Given the description of an element on the screen output the (x, y) to click on. 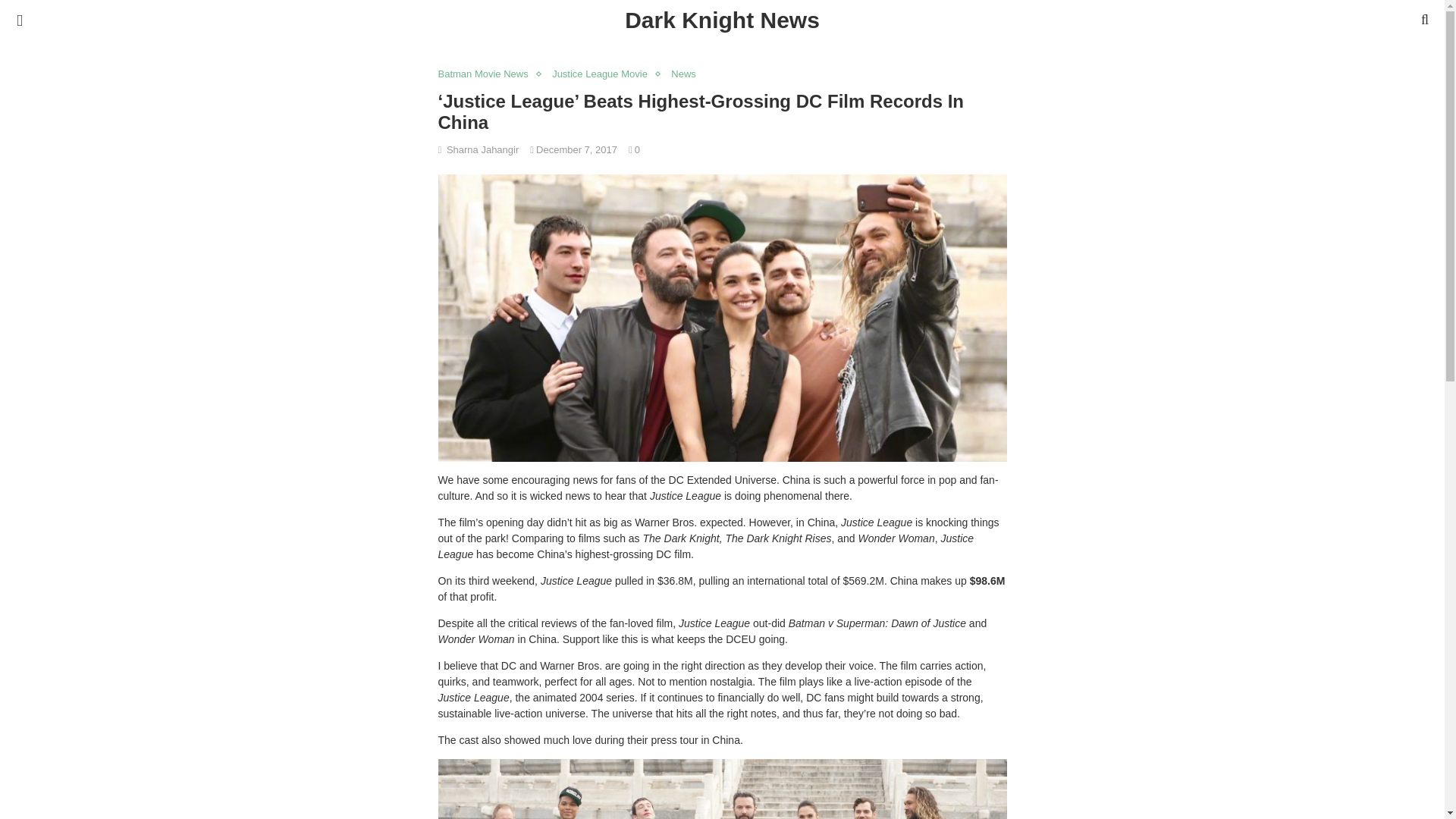
Batman Movie News (486, 73)
News (687, 73)
0 (634, 149)
December 7, 2017 (576, 149)
Justice League Movie (603, 73)
